Given the description of an element on the screen output the (x, y) to click on. 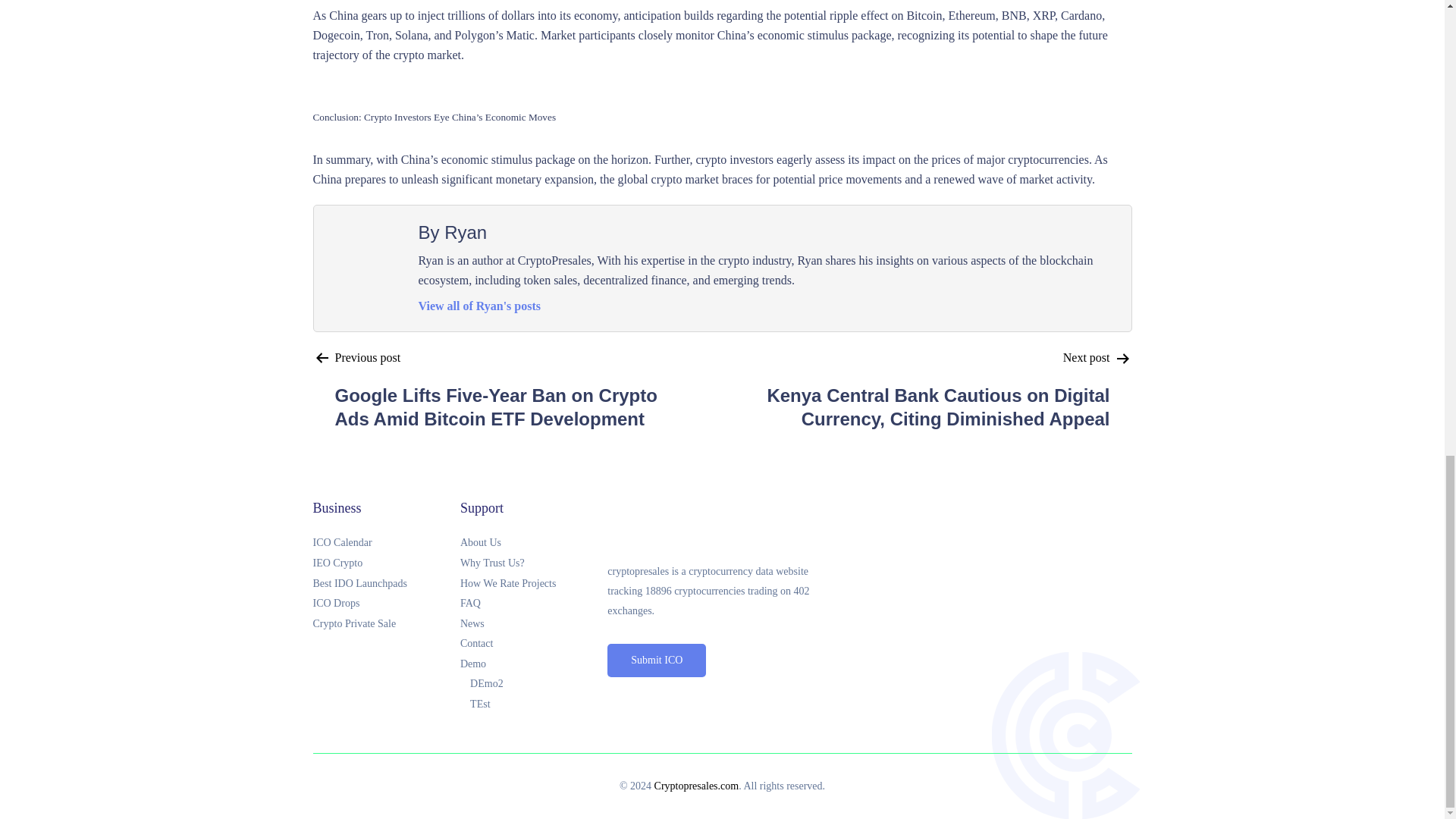
Best IDO Launchpads (386, 584)
News (533, 624)
ICO Calendar (386, 543)
TEst (538, 704)
FAQ (533, 603)
IEO Crypto (386, 563)
Demo (533, 664)
Why Trust Us? (533, 563)
